Given the description of an element on the screen output the (x, y) to click on. 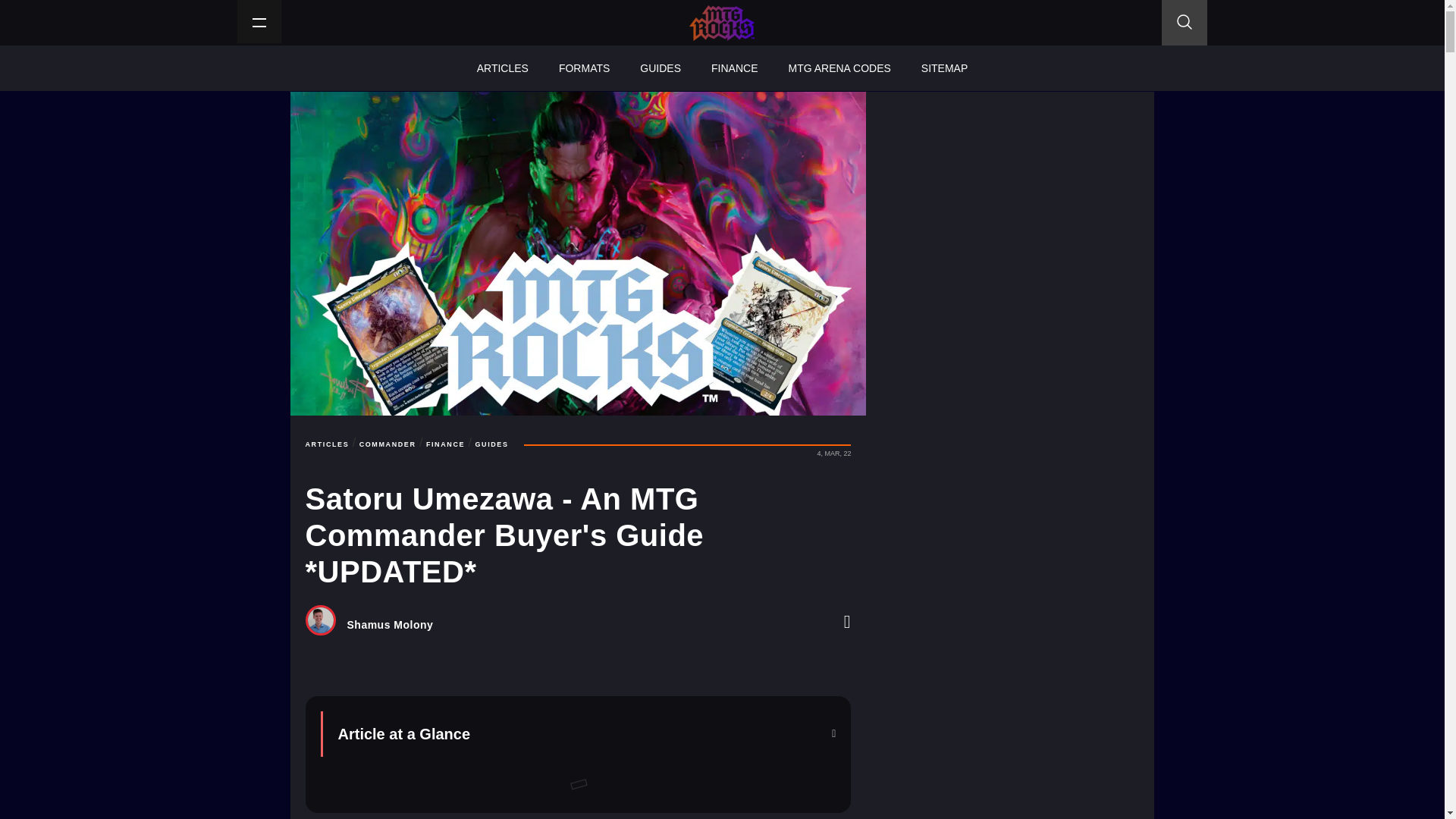
FORMATS (583, 68)
FINANCE (734, 68)
ARTICLES (502, 68)
COMMANDER (387, 444)
MTG ARENA CODES (839, 68)
ARTICLES (326, 444)
GUIDES (659, 68)
SITEMAP (943, 68)
